Given the description of an element on the screen output the (x, y) to click on. 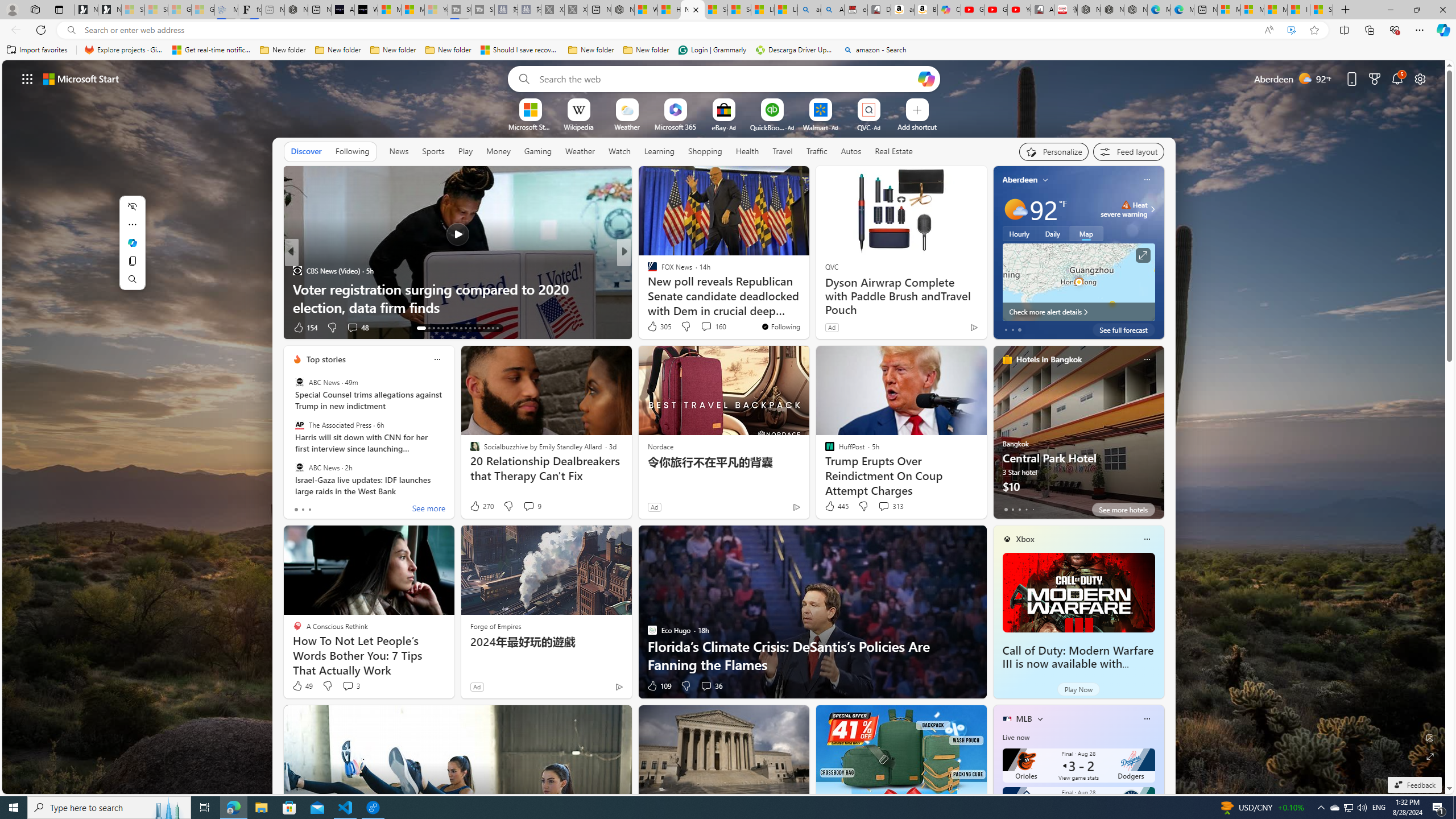
Open Copilot (925, 78)
More actions (132, 224)
Nordace - My Account (622, 9)
Sports (432, 151)
Gaming (537, 151)
Discover (306, 151)
View comments 61 Comment (703, 327)
AutomationID: tab-15 (433, 328)
Microsoft Start (1275, 9)
Health (746, 151)
amazon.in/dp/B0CX59H5W7/?tag=gsmcom05-21 (902, 9)
Collections (1369, 29)
Wikipedia (578, 126)
